Given the description of an element on the screen output the (x, y) to click on. 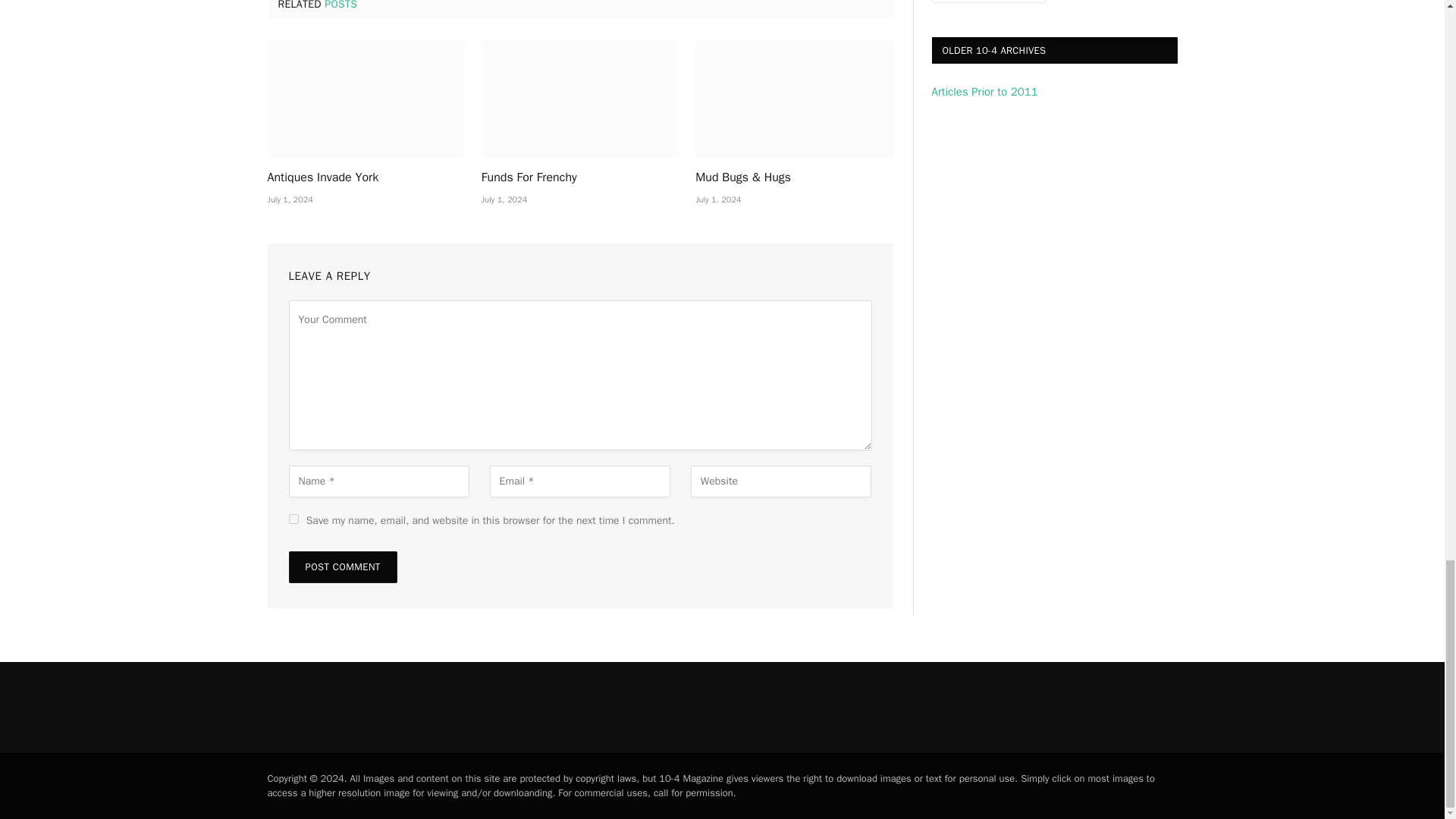
yes (293, 519)
Post Comment (342, 567)
